Given the description of an element on the screen output the (x, y) to click on. 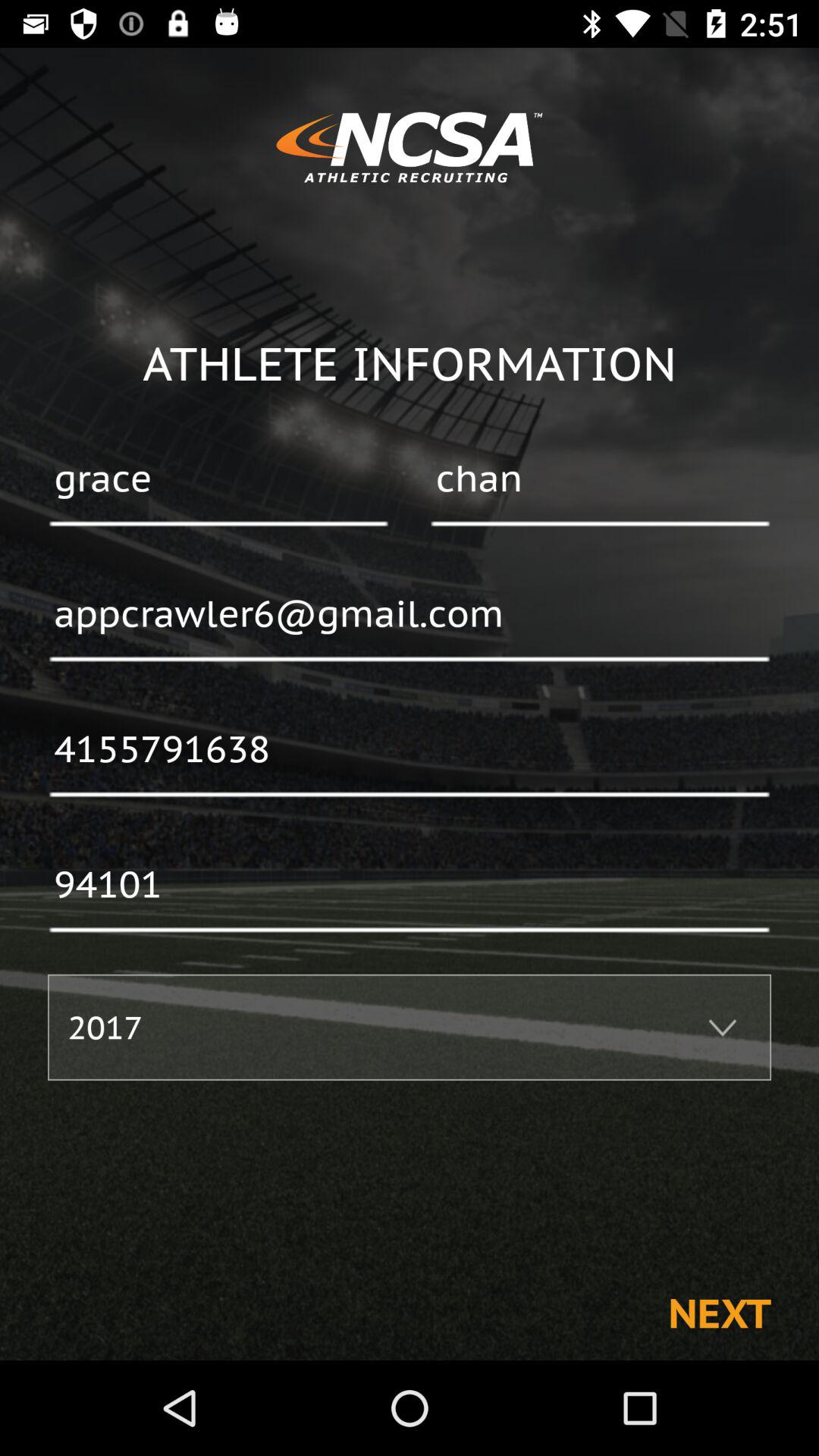
select the next icon (719, 1312)
